Given the description of an element on the screen output the (x, y) to click on. 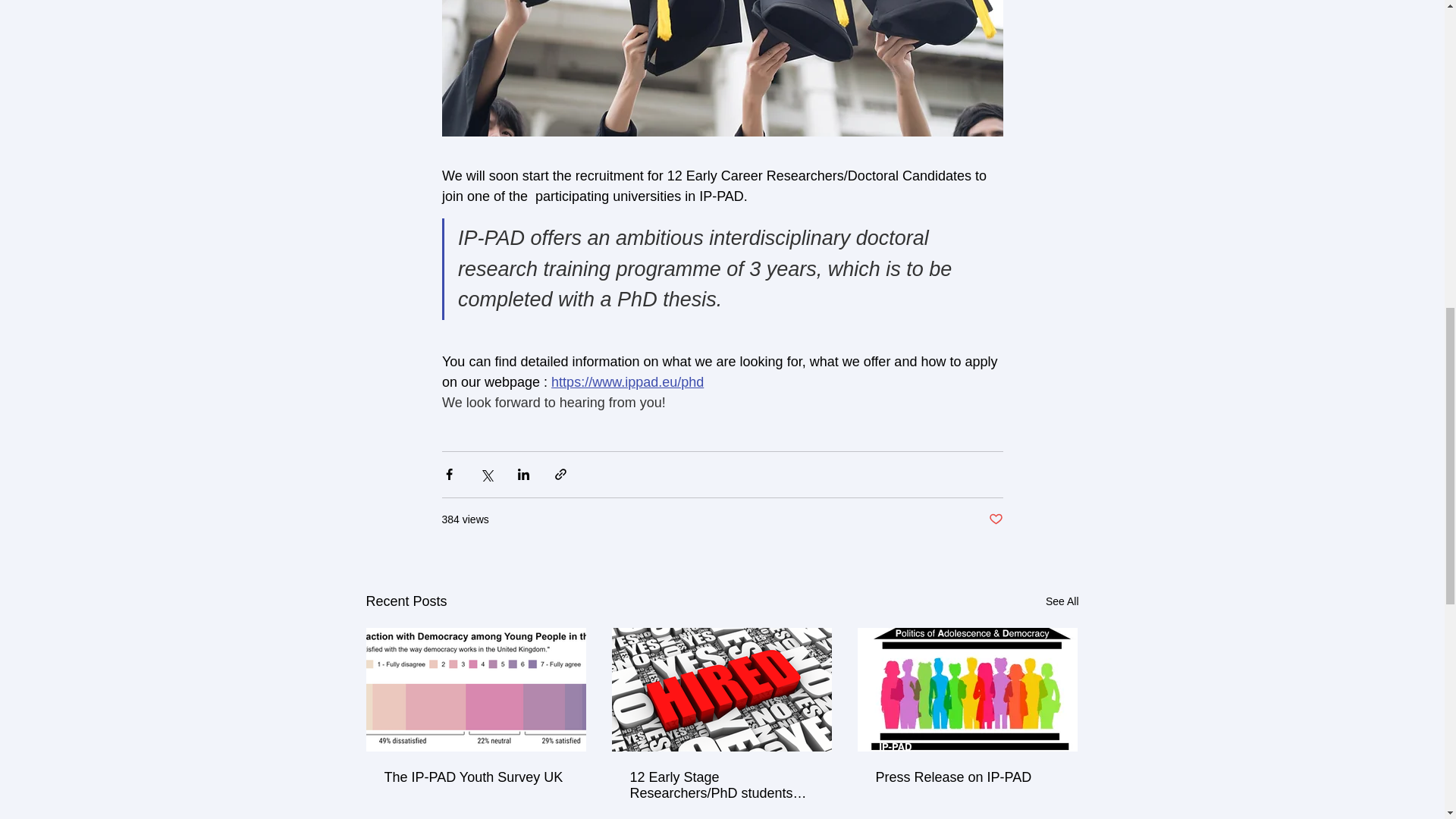
Press Release on IP-PAD (966, 777)
The IP-PAD Youth Survey UK (475, 777)
See All (1061, 601)
Post not marked as liked (995, 519)
